Given the description of an element on the screen output the (x, y) to click on. 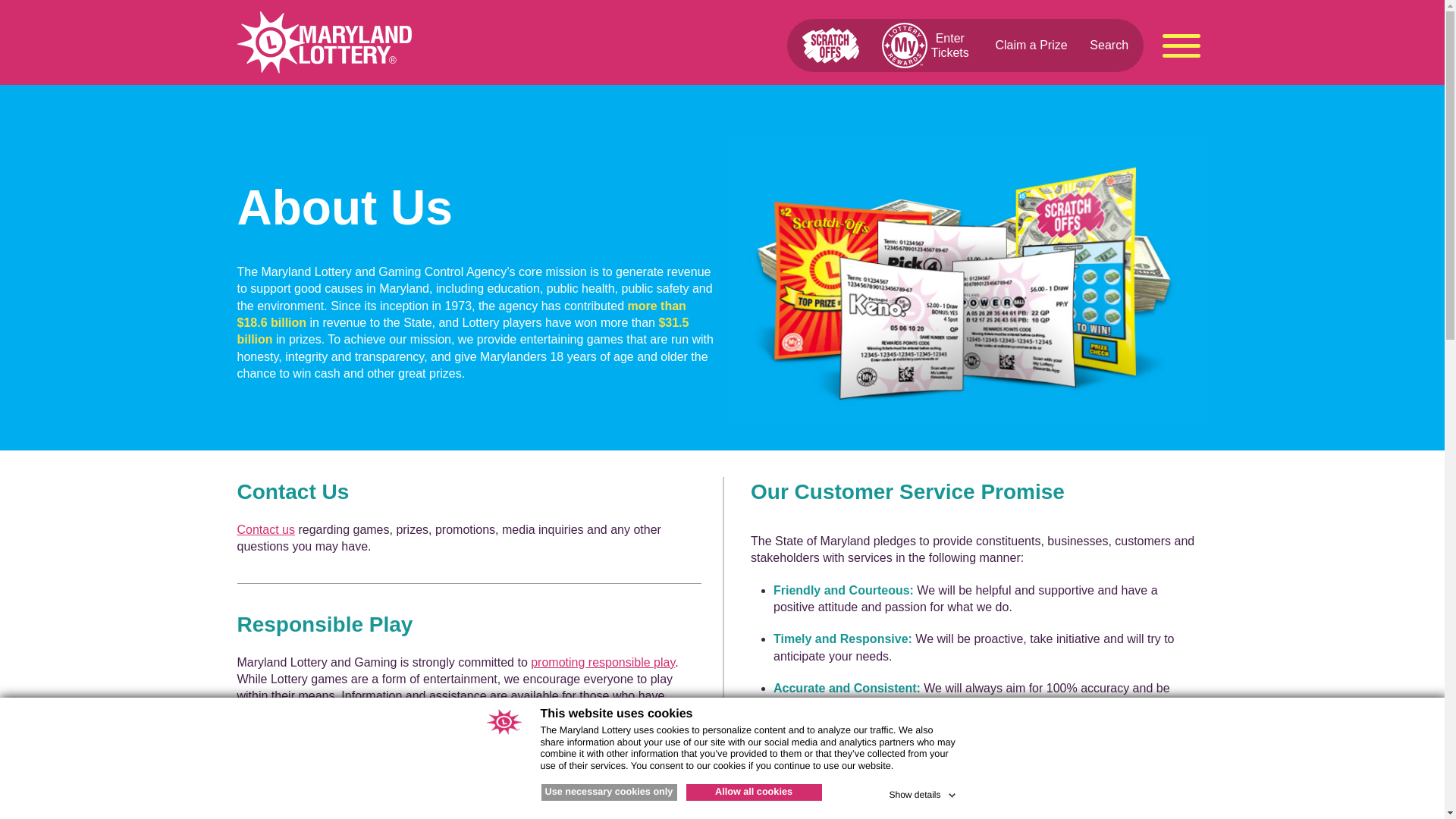
Allow all cookies (753, 791)
Show details (923, 791)
Use necessary cookies only (609, 791)
